Given the description of an element on the screen output the (x, y) to click on. 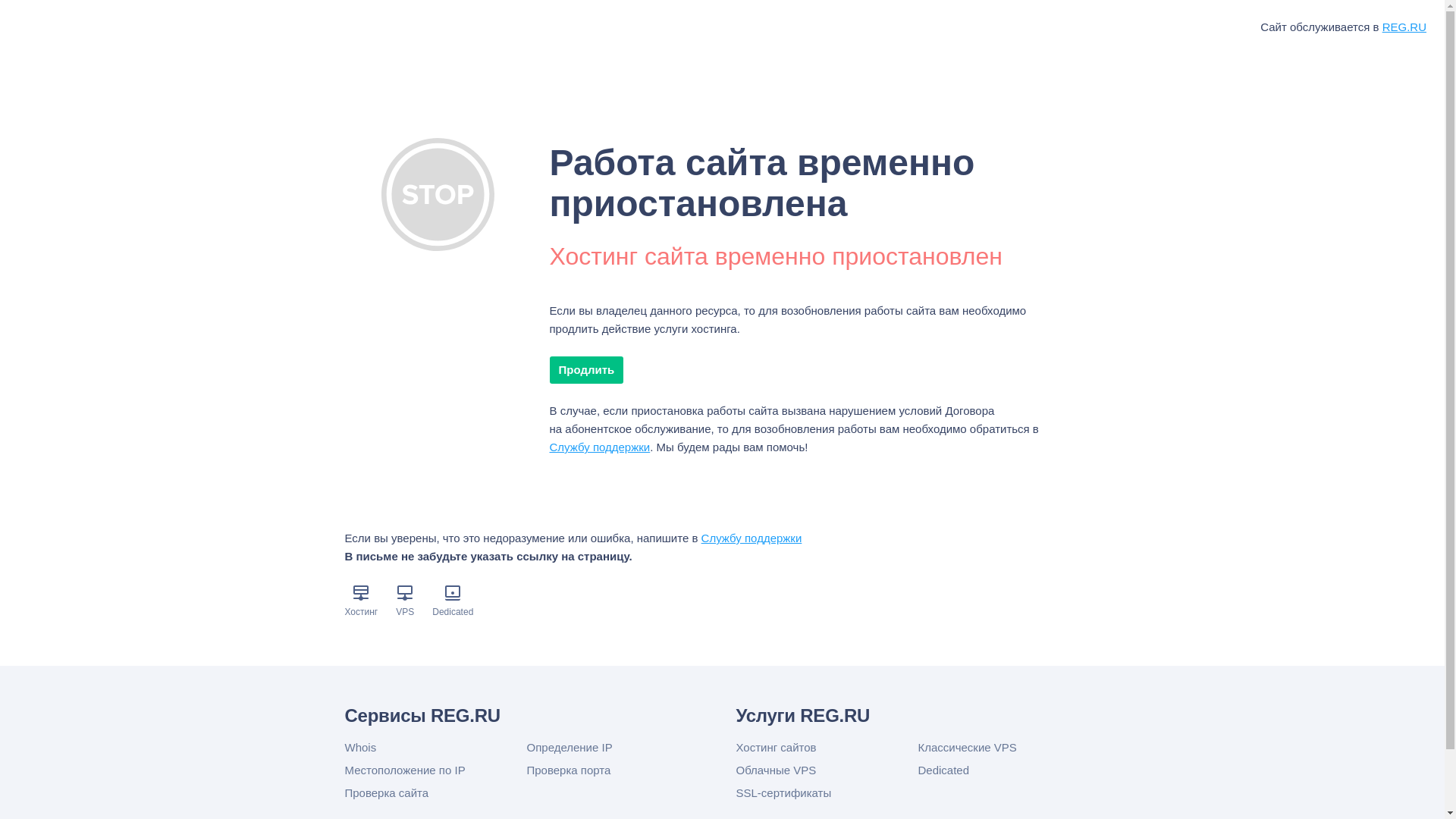
VPS Element type: text (404, 611)
Dedicated Element type: text (1008, 770)
Whois Element type: text (435, 747)
REG.RU Element type: text (1404, 26)
